Given the description of an element on the screen output the (x, y) to click on. 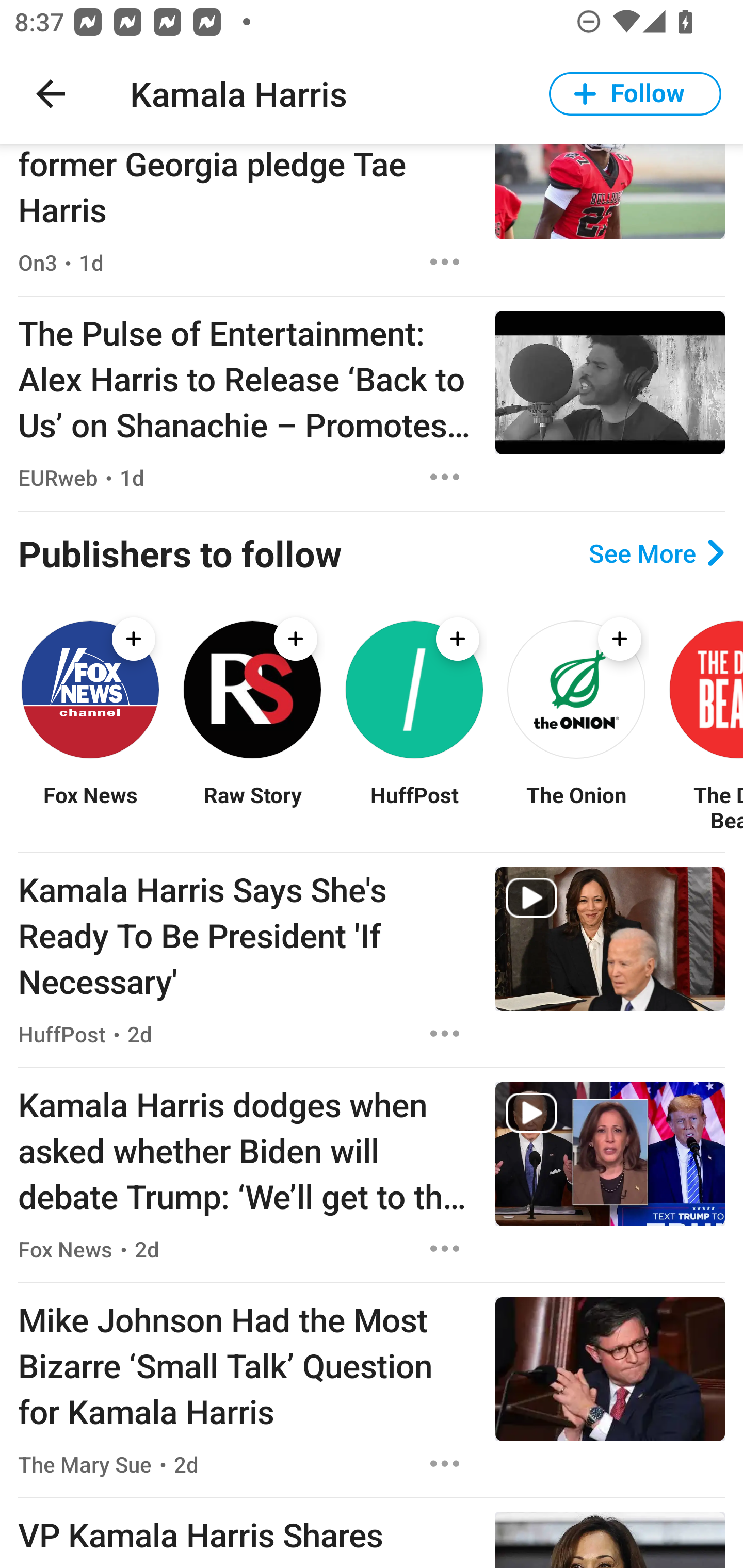
Navigate up (50, 93)
Follow (635, 94)
Options (444, 261)
Options (444, 476)
See More (656, 552)
Fox News (89, 806)
Raw Story (251, 806)
HuffPost (413, 806)
The Onion (575, 806)
Options (444, 1033)
Options (444, 1248)
Options (444, 1463)
